Given the description of an element on the screen output the (x, y) to click on. 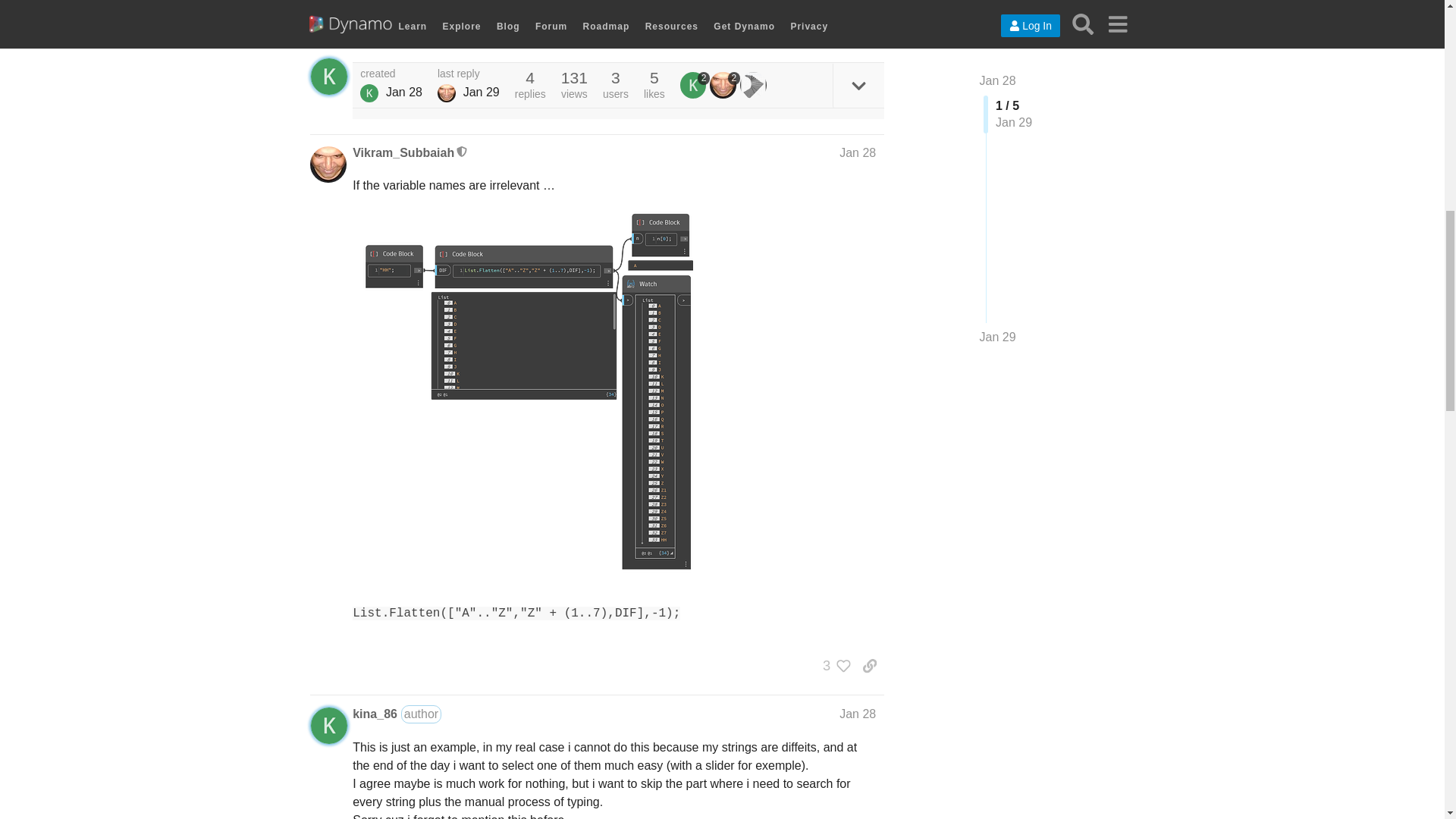
Jan 28, 2024 11:18 pm (403, 91)
like this post (835, 33)
Pop (368, 93)
copy a link to this post to clipboard (869, 33)
expand topic details (857, 85)
